Given the description of an element on the screen output the (x, y) to click on. 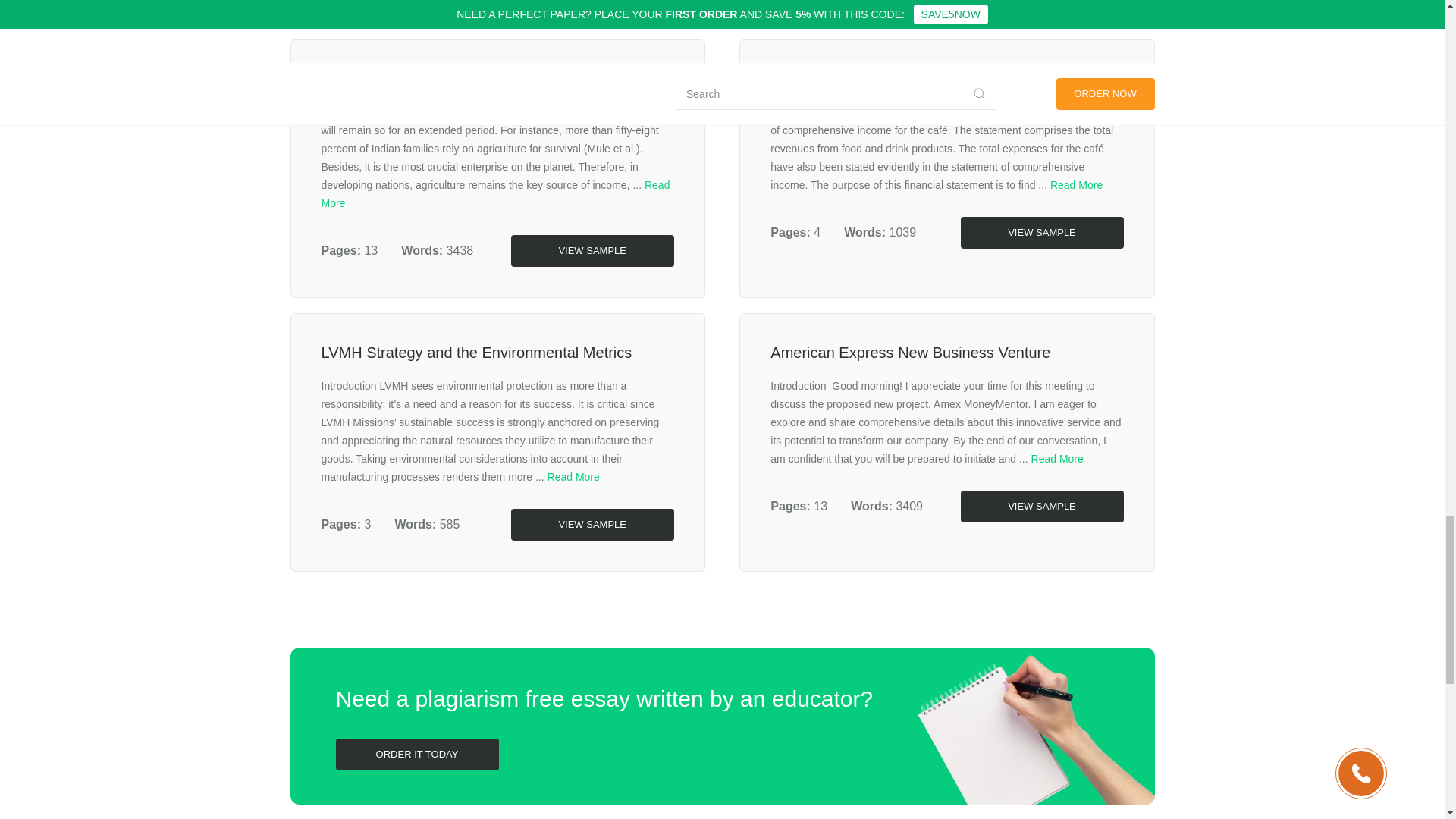
ORDER IT TODAY (415, 754)
Design and Making of Multipurpose Farming Tools (489, 78)
Read More (1075, 184)
VIEW SAMPLE (1040, 232)
VIEW SAMPLE (592, 250)
Read More (573, 476)
VIEW SAMPLE (592, 524)
Read More (1056, 458)
American Express New Business Venture (909, 352)
LVMH Strategy and the Environmental Metrics (476, 352)
